Given the description of an element on the screen output the (x, y) to click on. 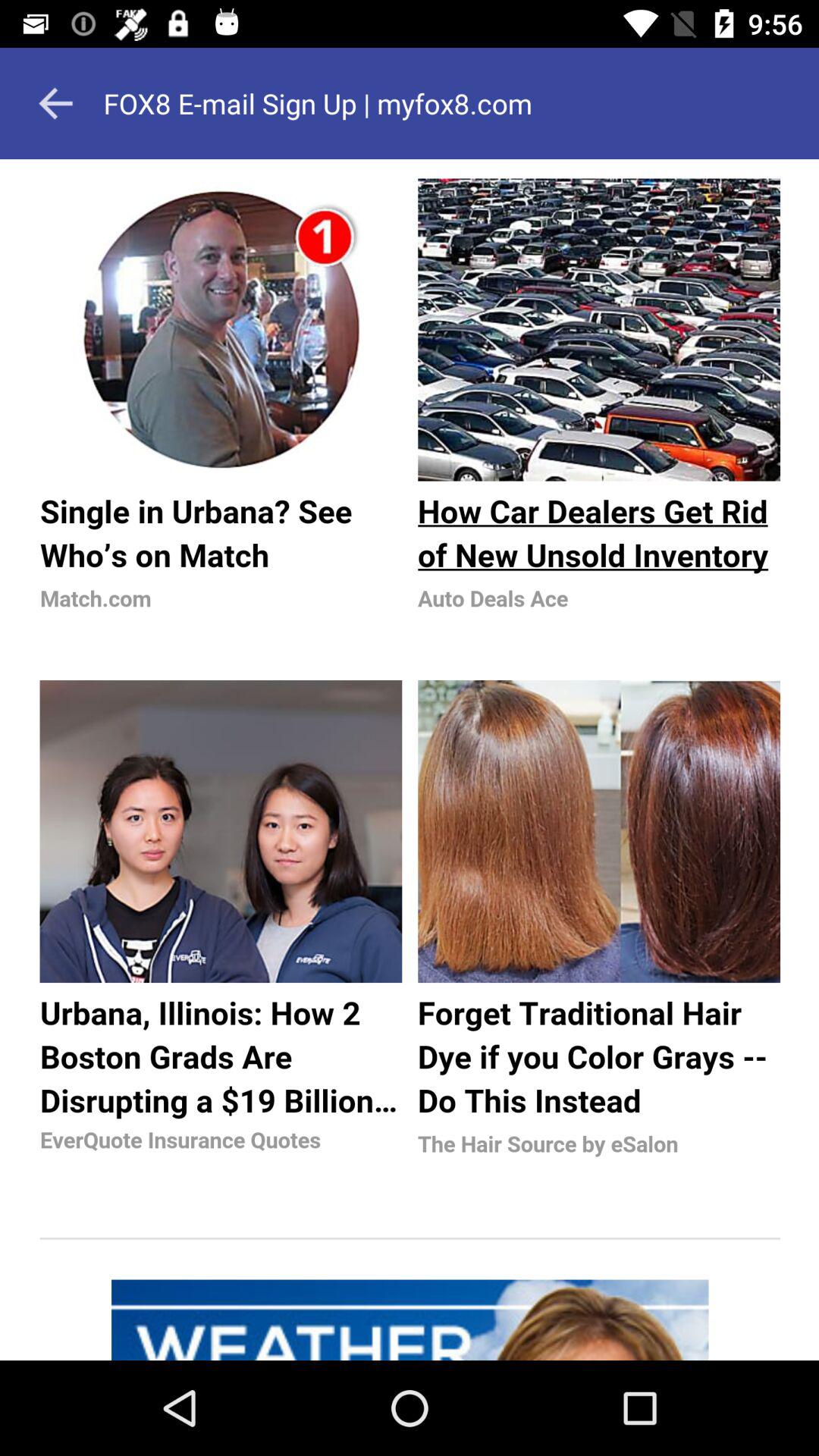
go to previous (55, 103)
